Given the description of an element on the screen output the (x, y) to click on. 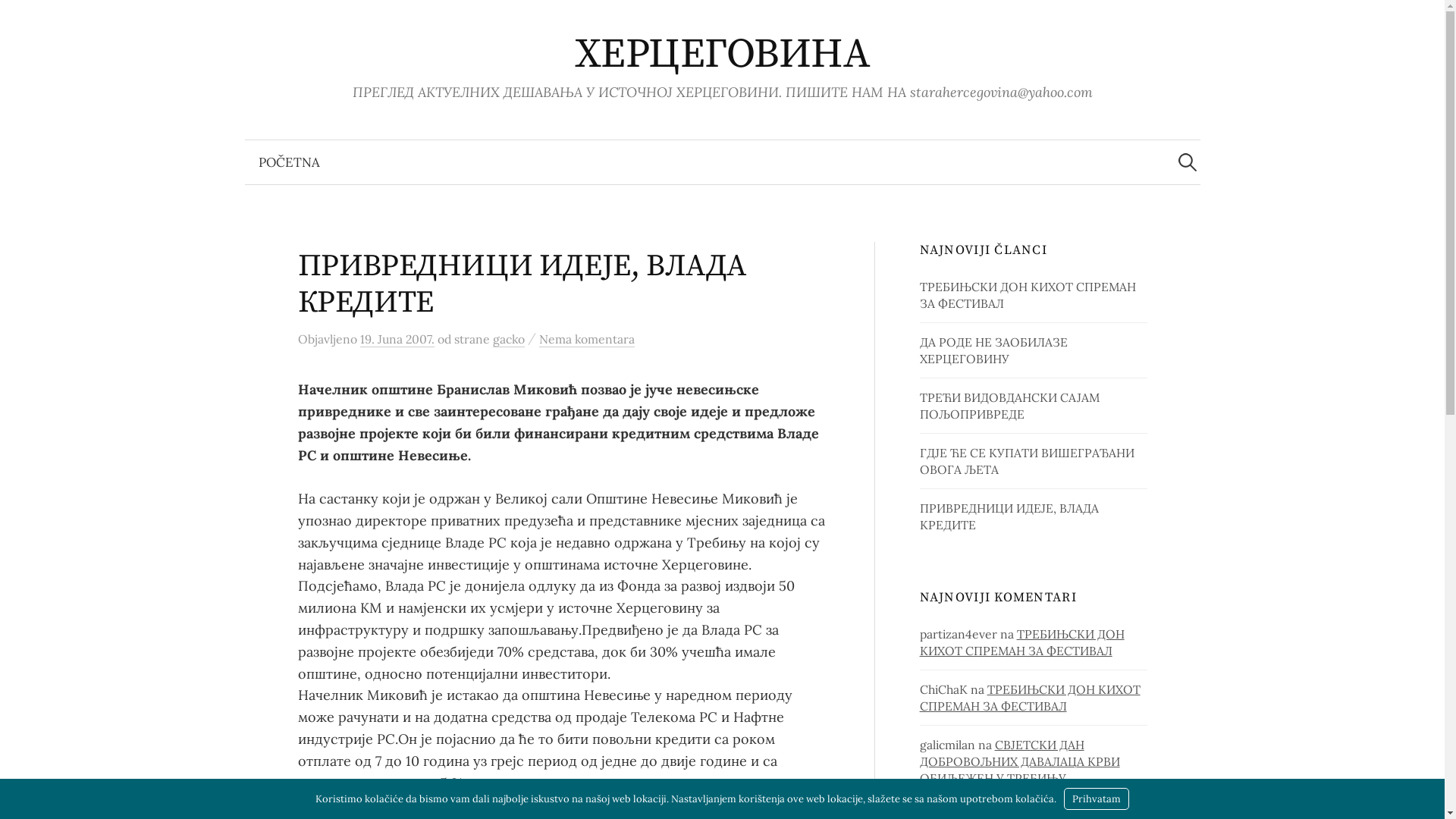
Pretraga Element type: text (18, 18)
Prihvatam Element type: text (1096, 798)
gacko Element type: text (508, 339)
19. Juna 2007. Element type: text (396, 339)
